Given the description of an element on the screen output the (x, y) to click on. 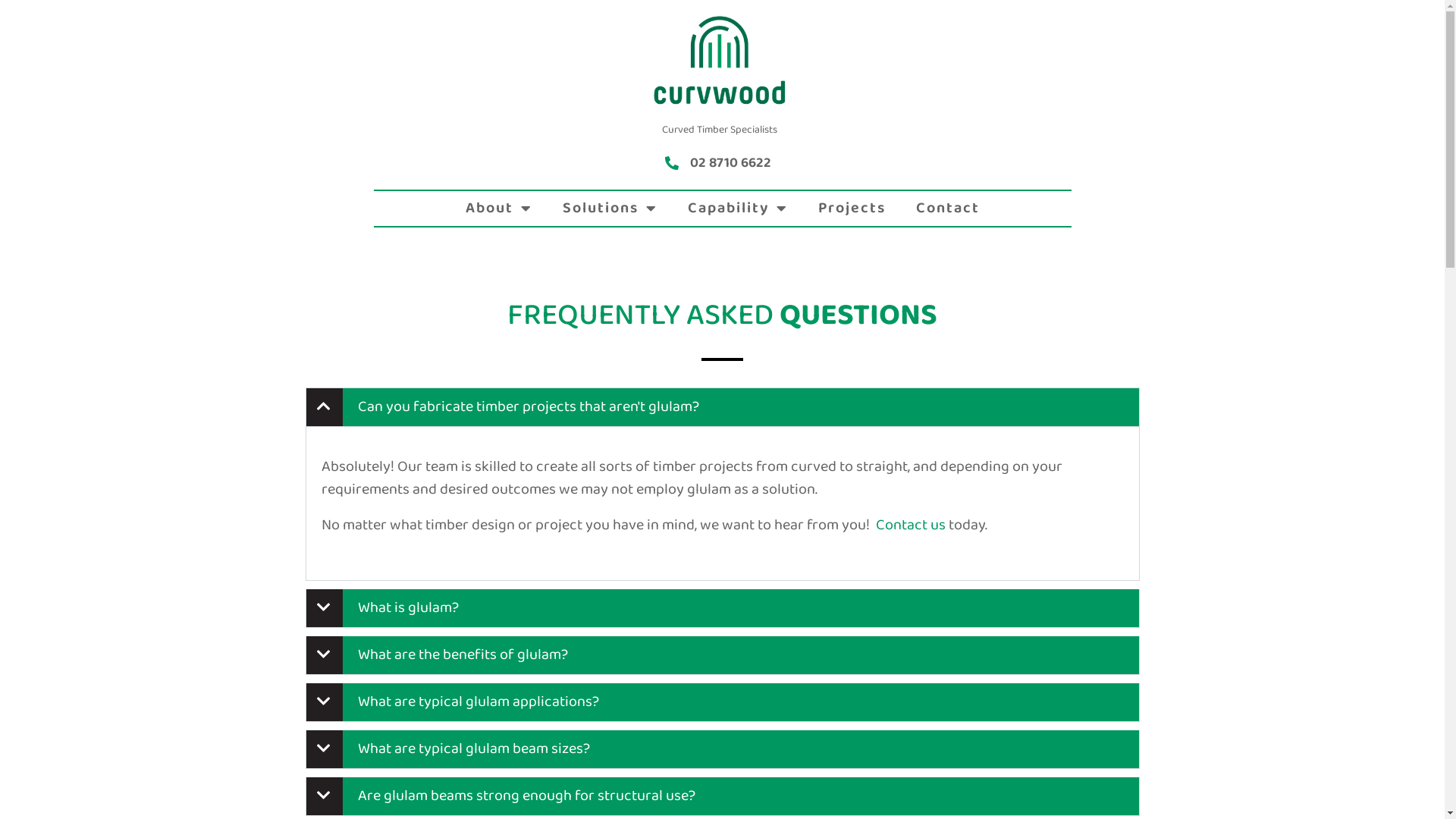
What is glulam? Element type: text (407, 607)
Contact us Element type: text (909, 524)
What are typical glulam applications? Element type: text (478, 701)
About Element type: text (498, 208)
Capability Element type: text (736, 208)
Contact Element type: text (947, 208)
Are glulam beams strong enough for structural use? Element type: text (526, 795)
logo-300 Element type: hover (718, 59)
Projects Element type: text (851, 208)
Can you fabricate timber projects that aren't glulam? Element type: text (528, 406)
What are typical glulam beam sizes? Element type: text (473, 748)
What are the benefits of glulam? Element type: text (462, 654)
02 8710 6622 Element type: text (730, 164)
Solutions Element type: text (609, 208)
